Given the description of an element on the screen output the (x, y) to click on. 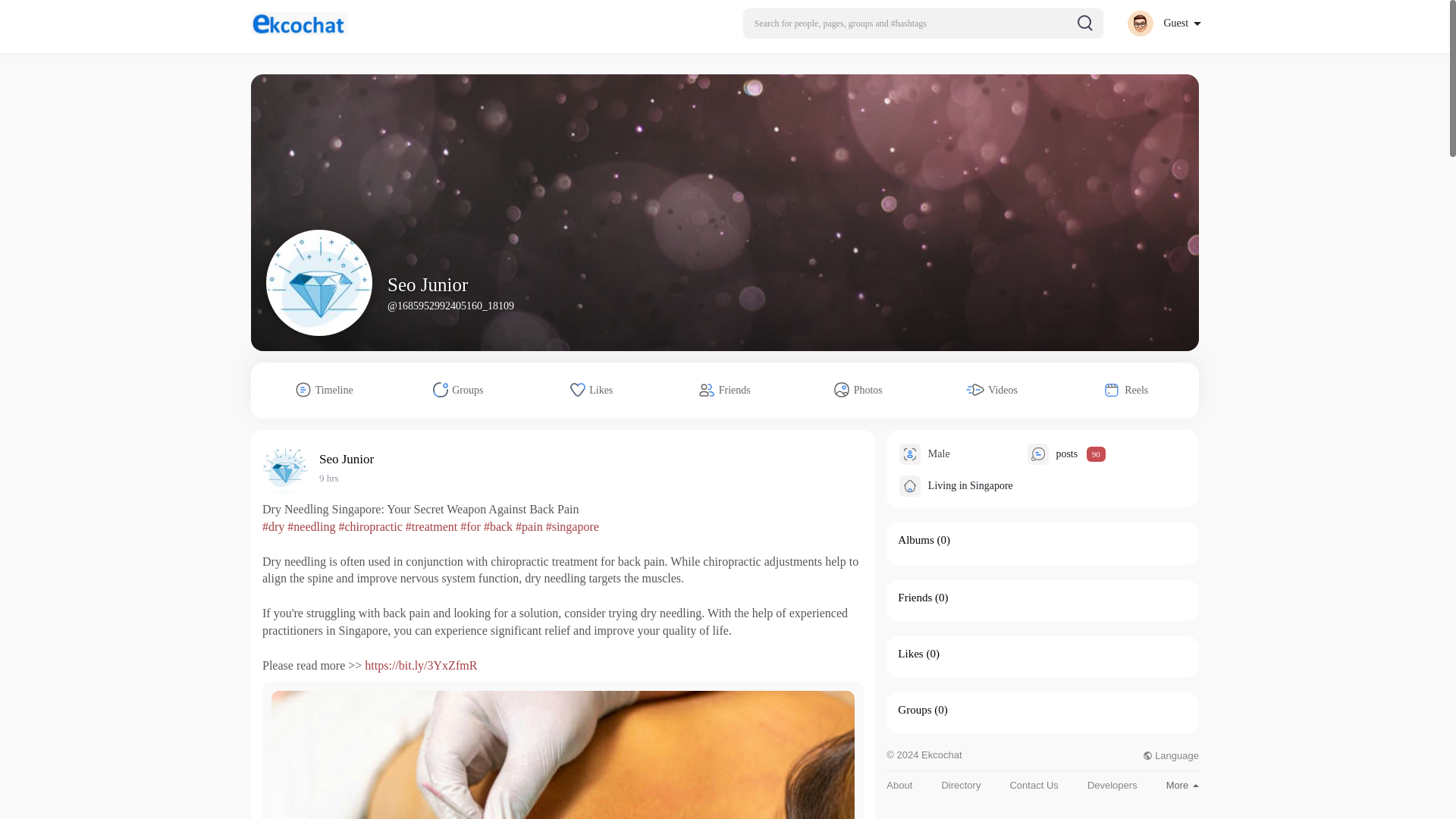
Photos (857, 390)
9 hrs (328, 478)
Videos (991, 390)
Timeline (324, 390)
Friends (725, 390)
Seo Junior (427, 284)
Guest (1163, 23)
Reels (1125, 390)
Likes (591, 390)
Seo Junior (348, 459)
